Given the description of an element on the screen output the (x, y) to click on. 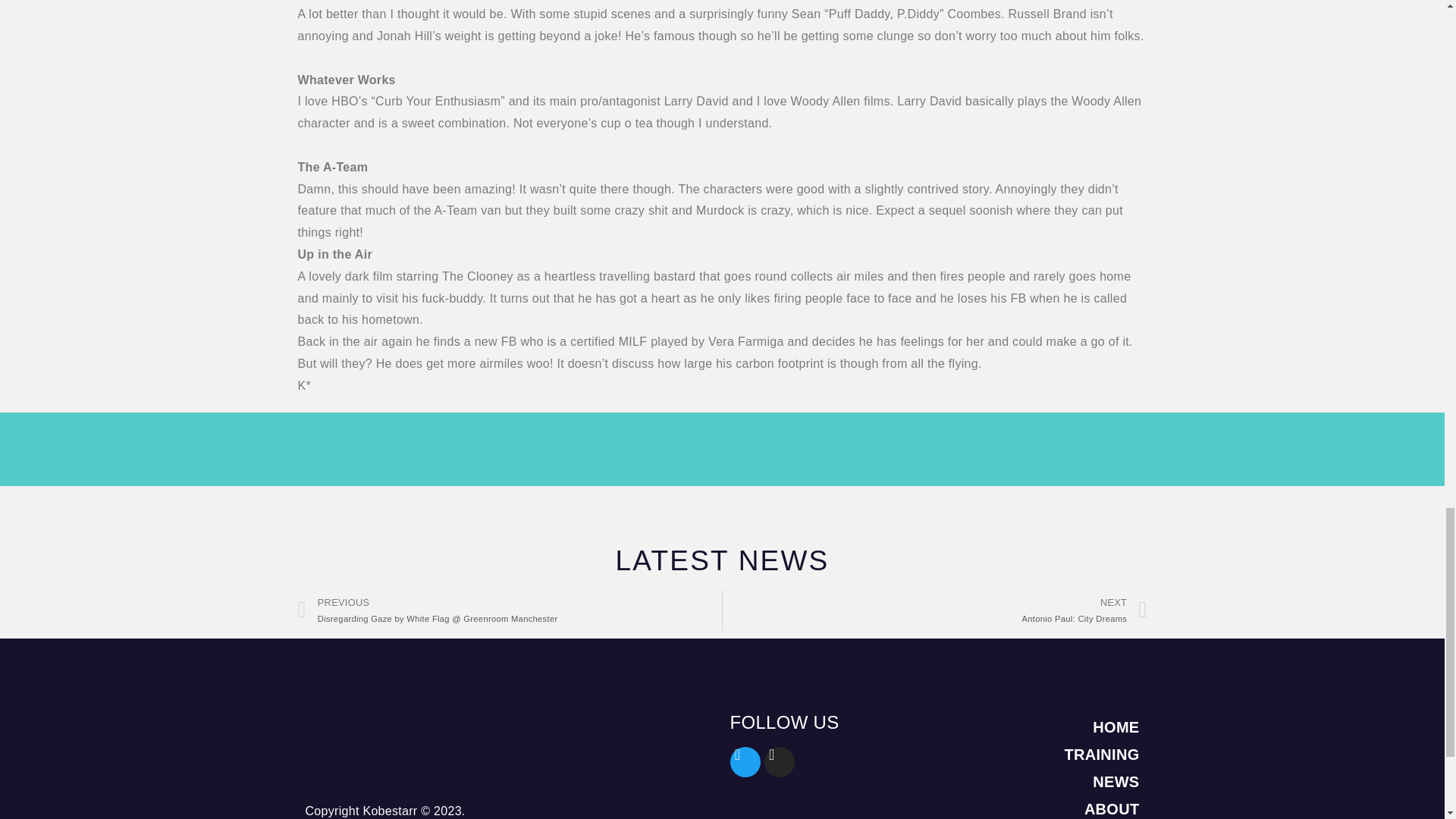
TRAINING (1020, 754)
ABOUT (934, 609)
HOME (1020, 807)
NEWS (1020, 727)
